Given the description of an element on the screen output the (x, y) to click on. 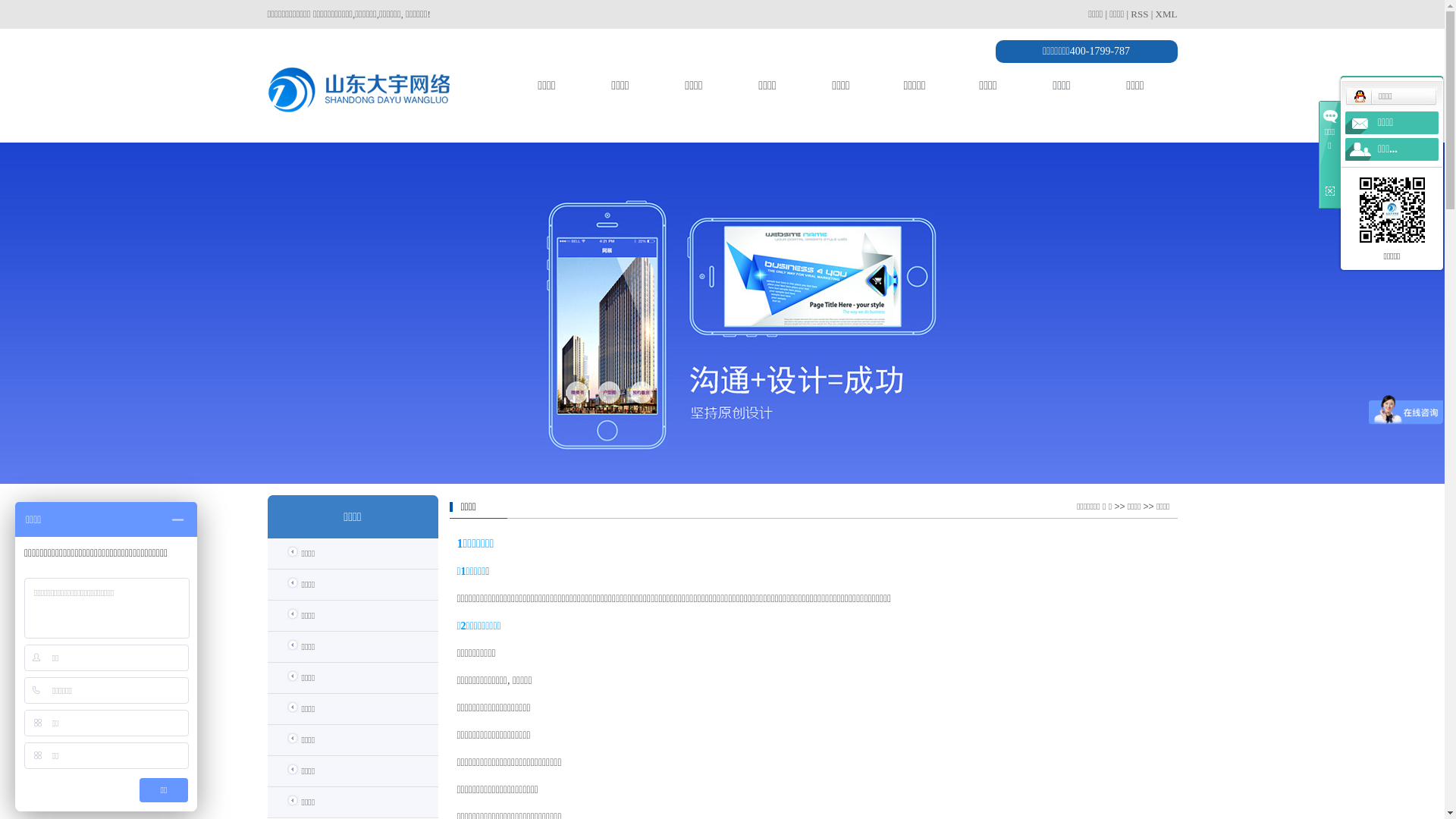
RSS Element type: text (1139, 13)
XML Element type: text (1166, 13)
